Given the description of an element on the screen output the (x, y) to click on. 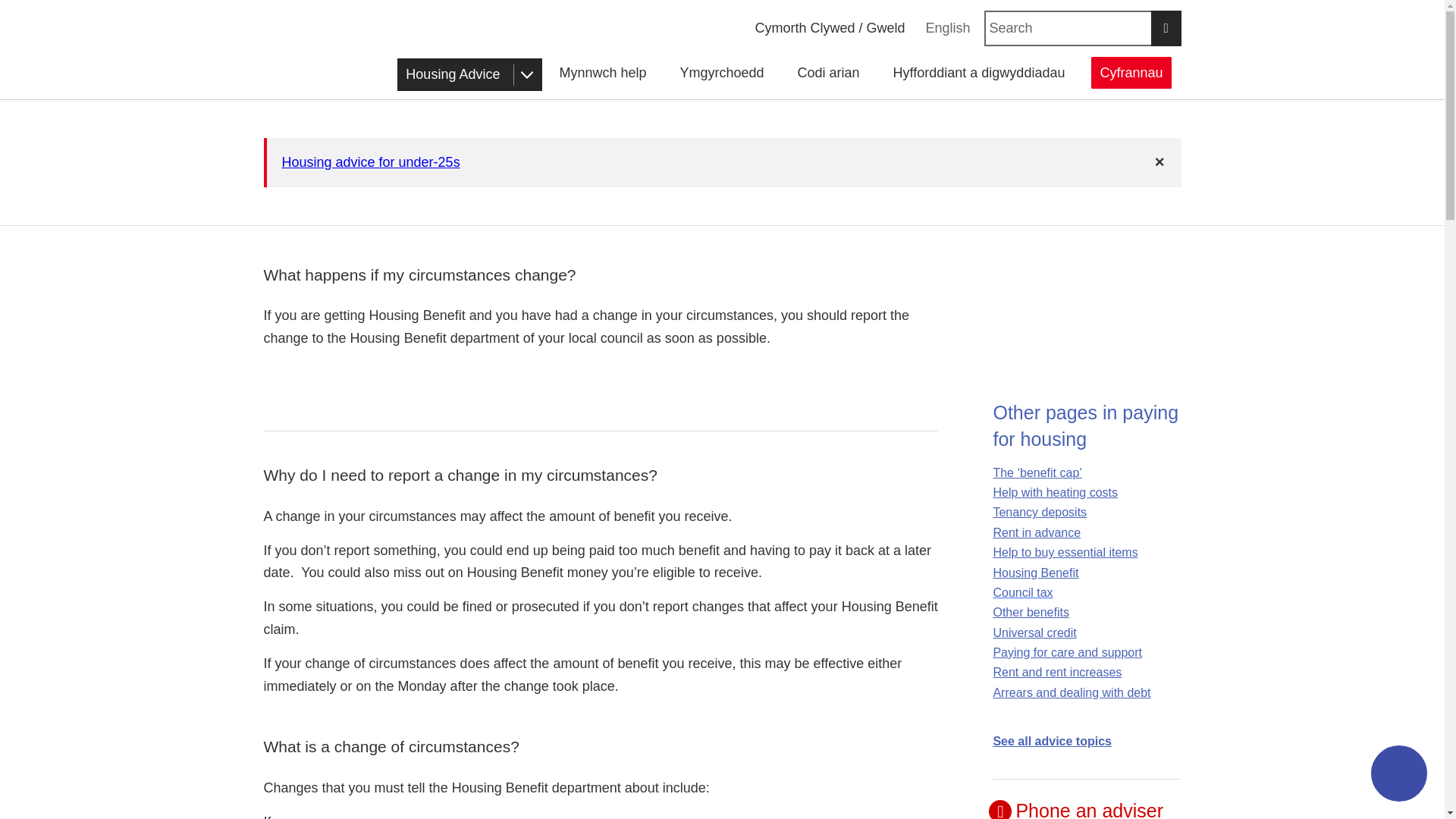
Help to buy essential items (1064, 552)
Housing advice for under-25s (371, 161)
Housing Advice (469, 74)
Mynnwch help (601, 73)
Arrears and dealing with debt (1071, 692)
Rent and rent increases (1056, 671)
Other benefits (1030, 612)
Help with heating costs (1055, 502)
Universal Credit (1033, 632)
Tenancy deposits (1039, 512)
Other benefits (1030, 612)
Codi arian (828, 73)
Housing Benefit (1035, 571)
Hyfforddiant a digwyddiadau (978, 73)
Paying for care and support (1066, 652)
